Given the description of an element on the screen output the (x, y) to click on. 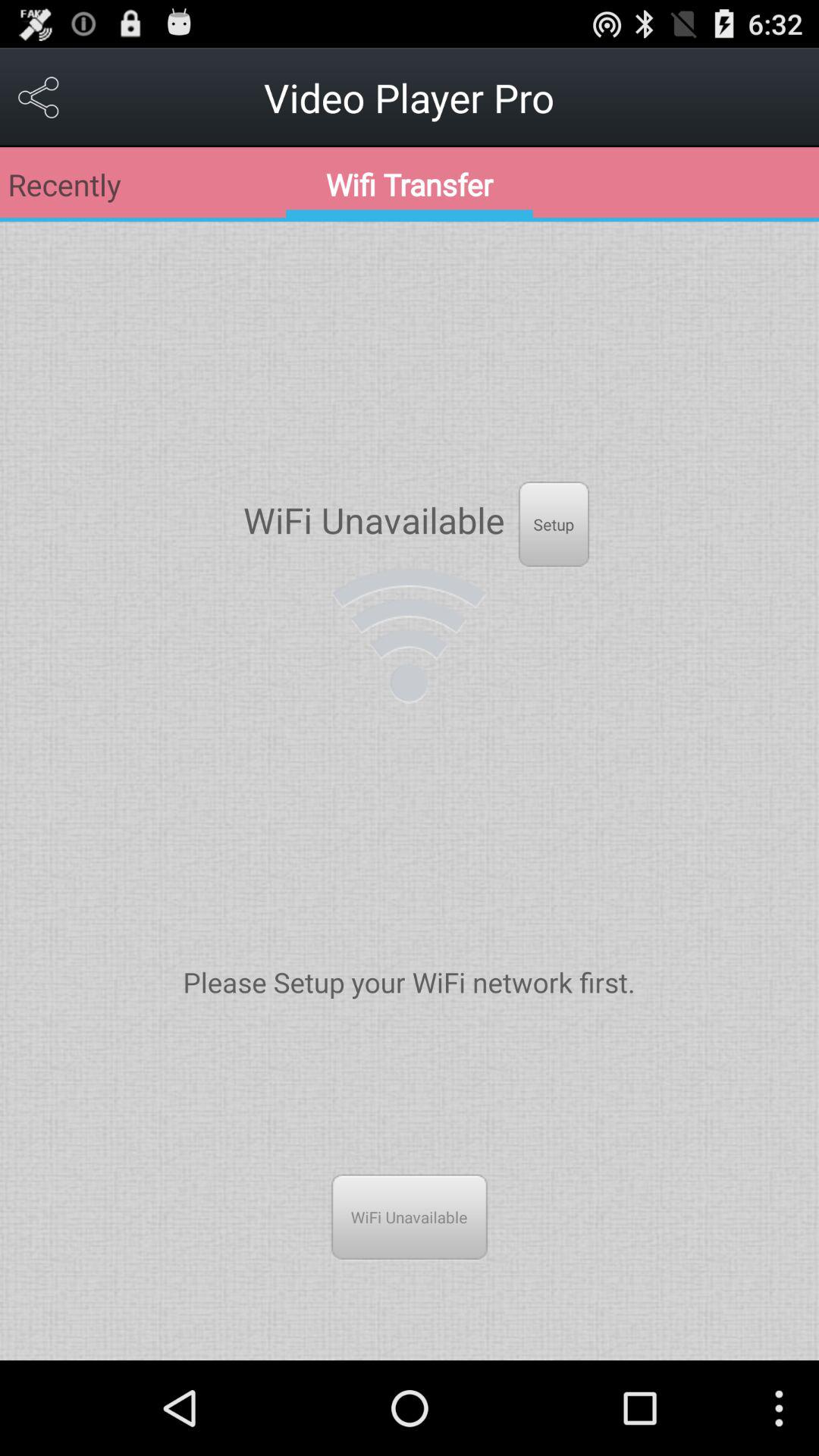
select the item below the wifi unavailable icon (409, 635)
